Given the description of an element on the screen output the (x, y) to click on. 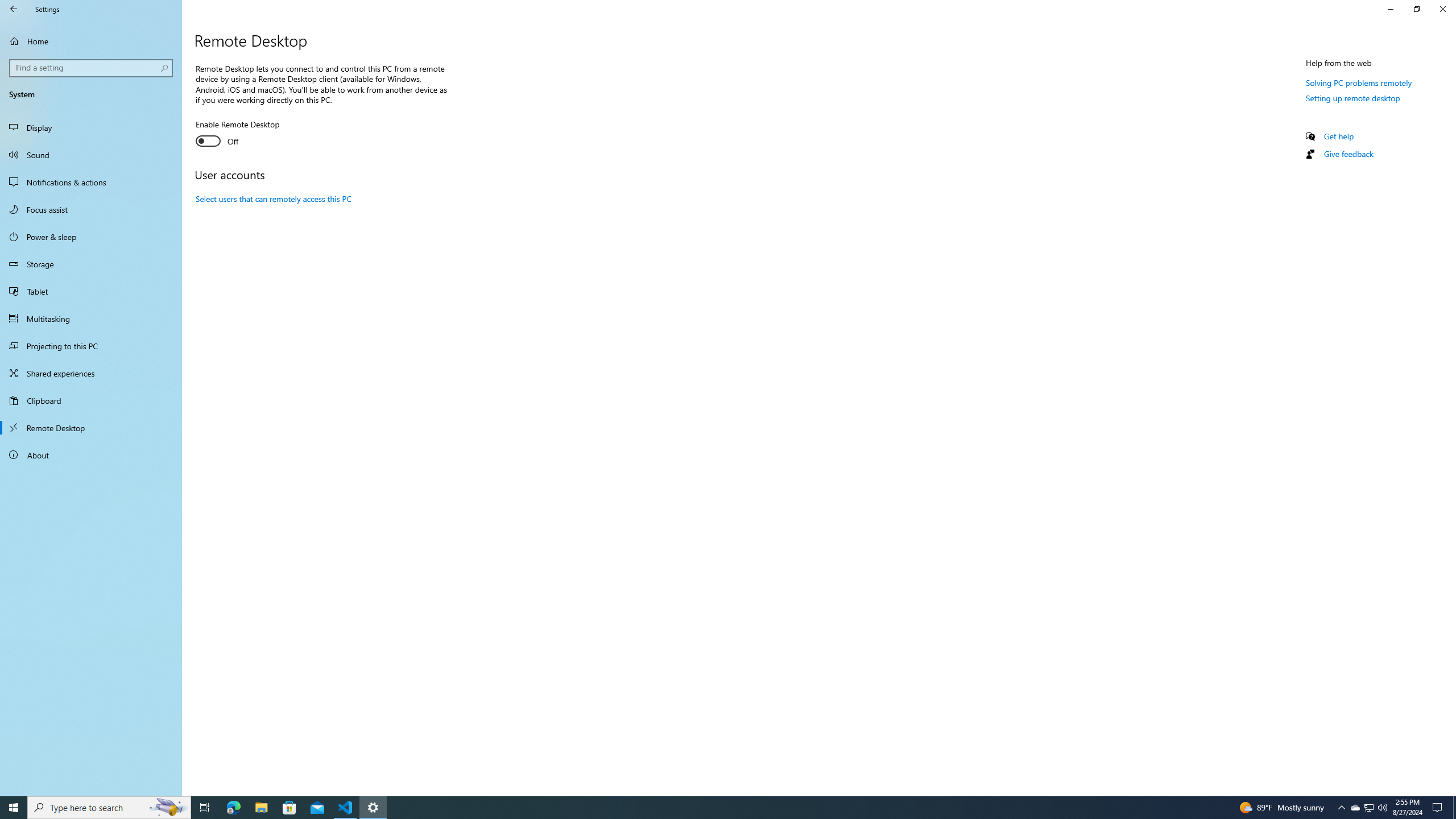
Running applications (717, 807)
Solving PC problems remotely (1359, 82)
Search box, Find a setting (91, 67)
Multitasking (91, 318)
Minimize Settings (1390, 9)
Settings - 1 running window (373, 807)
Projecting to this PC (91, 345)
Home (91, 40)
Storage (91, 263)
Get help (1338, 136)
